Given the description of an element on the screen output the (x, y) to click on. 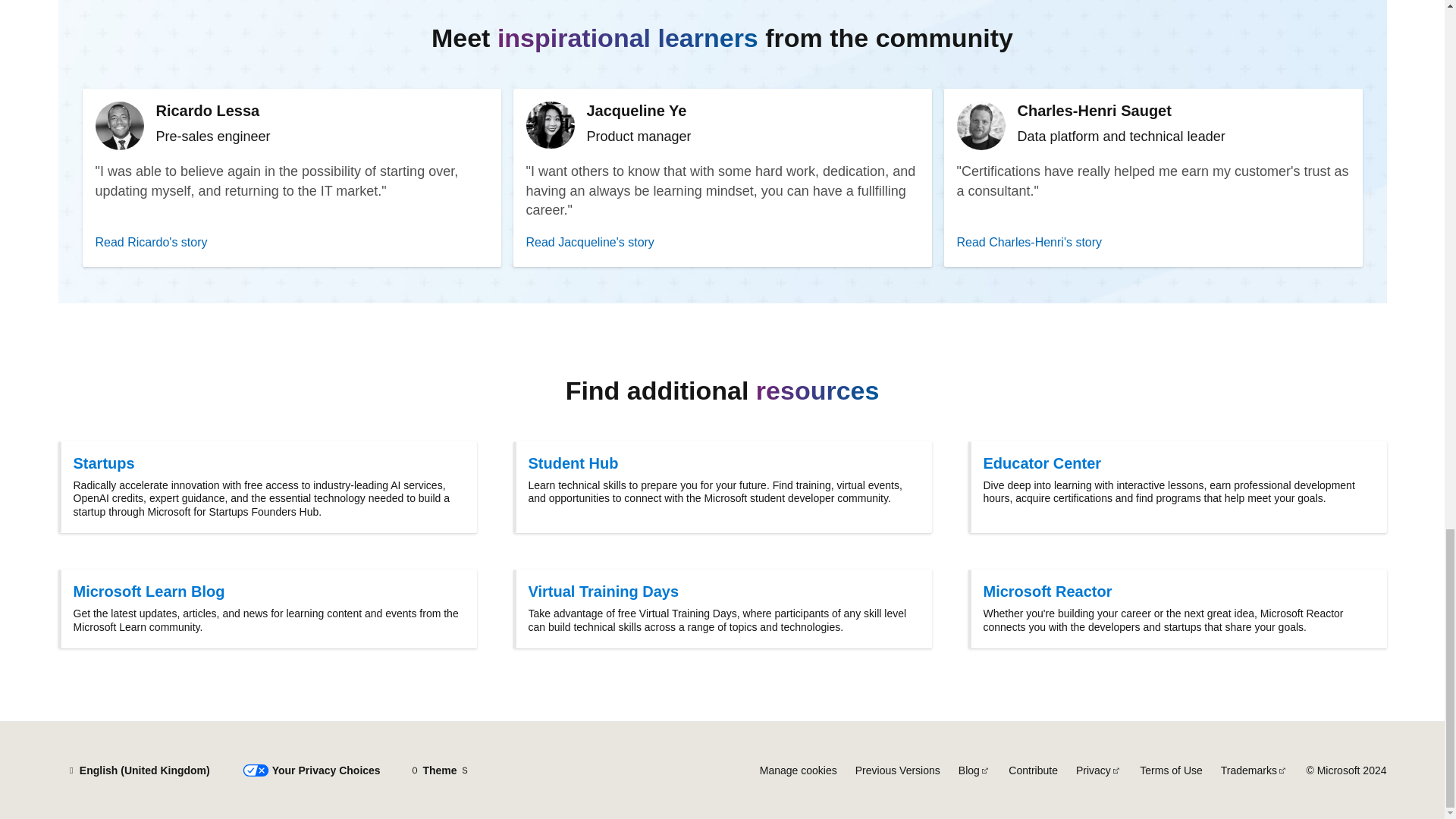
Startups (267, 463)
Student Hub (722, 463)
Read Ricardo's story (291, 242)
Read Jacqueline's story (721, 242)
Theme (440, 770)
Read Charles-Henri's story (1152, 242)
